Given the description of an element on the screen output the (x, y) to click on. 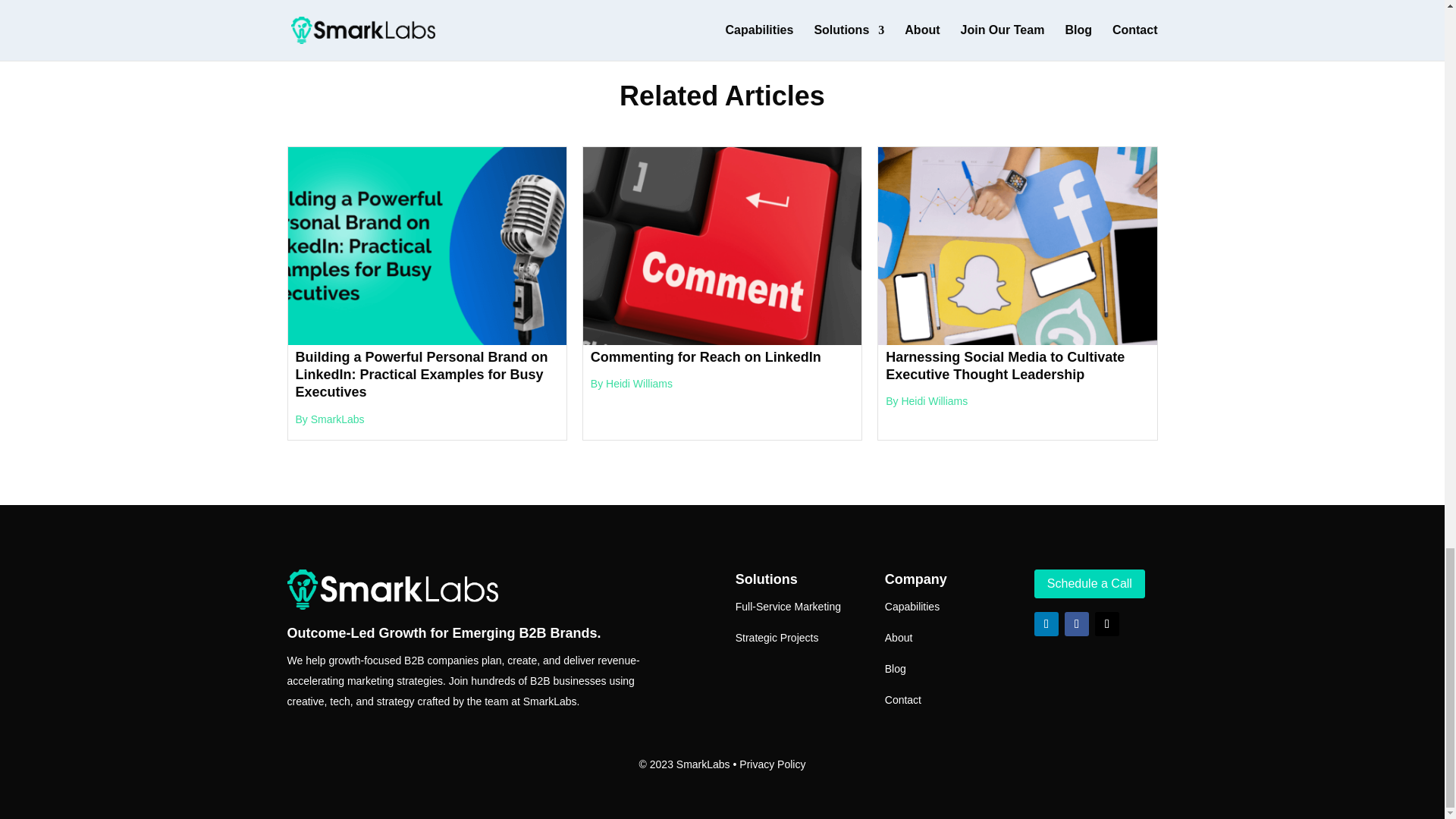
Capabilities (912, 606)
Follow on X (1106, 623)
By Heidi Williams (926, 400)
Schedule a Call (1088, 583)
Follow on LinkedIn (1045, 623)
Blog (895, 668)
Full-Service Marketing (788, 606)
About (898, 637)
Follow on Facebook (1076, 623)
By SmarkLabs (330, 419)
By Heidi Williams (631, 383)
Contact (903, 699)
Strategic Projects (776, 637)
